Given the description of an element on the screen output the (x, y) to click on. 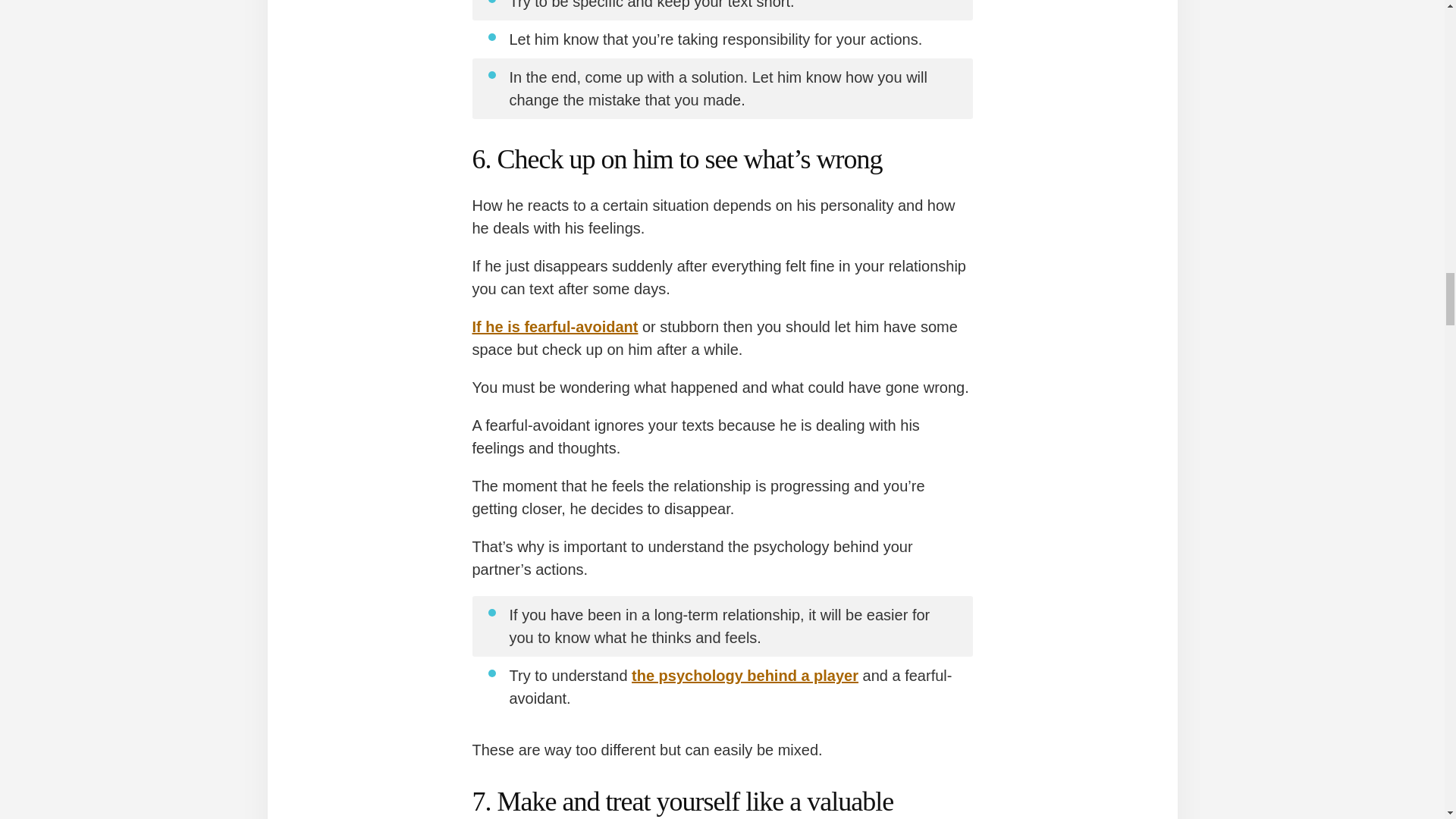
the psychology behind a player (745, 675)
If he is fearful-avoidant (554, 326)
